Given the description of an element on the screen output the (x, y) to click on. 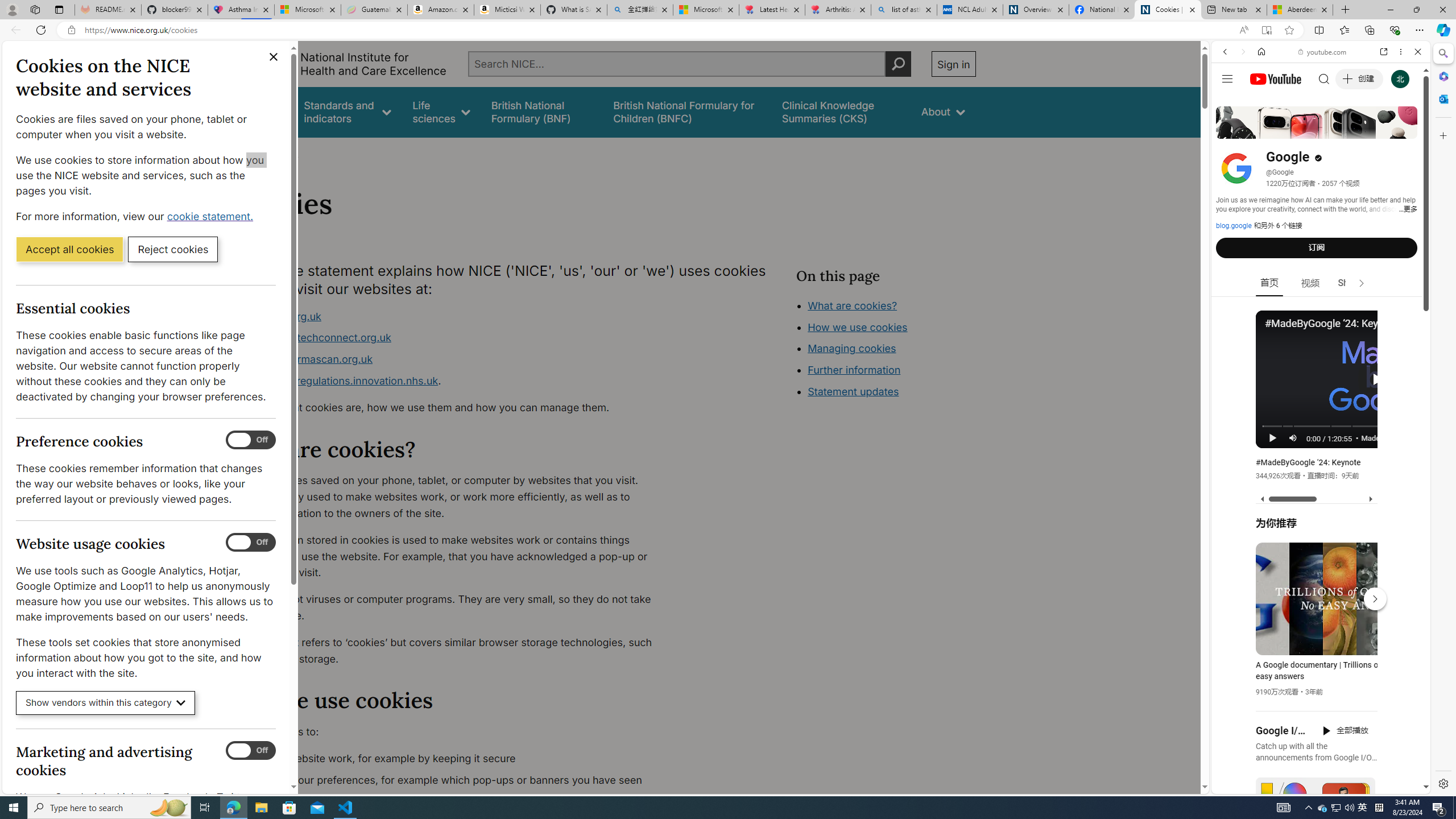
Close cookie banner (273, 56)
Accept all cookies (69, 248)
blog.google (1233, 225)
Close Customize pane (1442, 135)
Search Filter, IMAGES (1262, 129)
Actions for this site (1371, 661)
NCL Adult Asthma Inhaler Choice Guideline (969, 9)
Music (1320, 309)
